Given the description of an element on the screen output the (x, y) to click on. 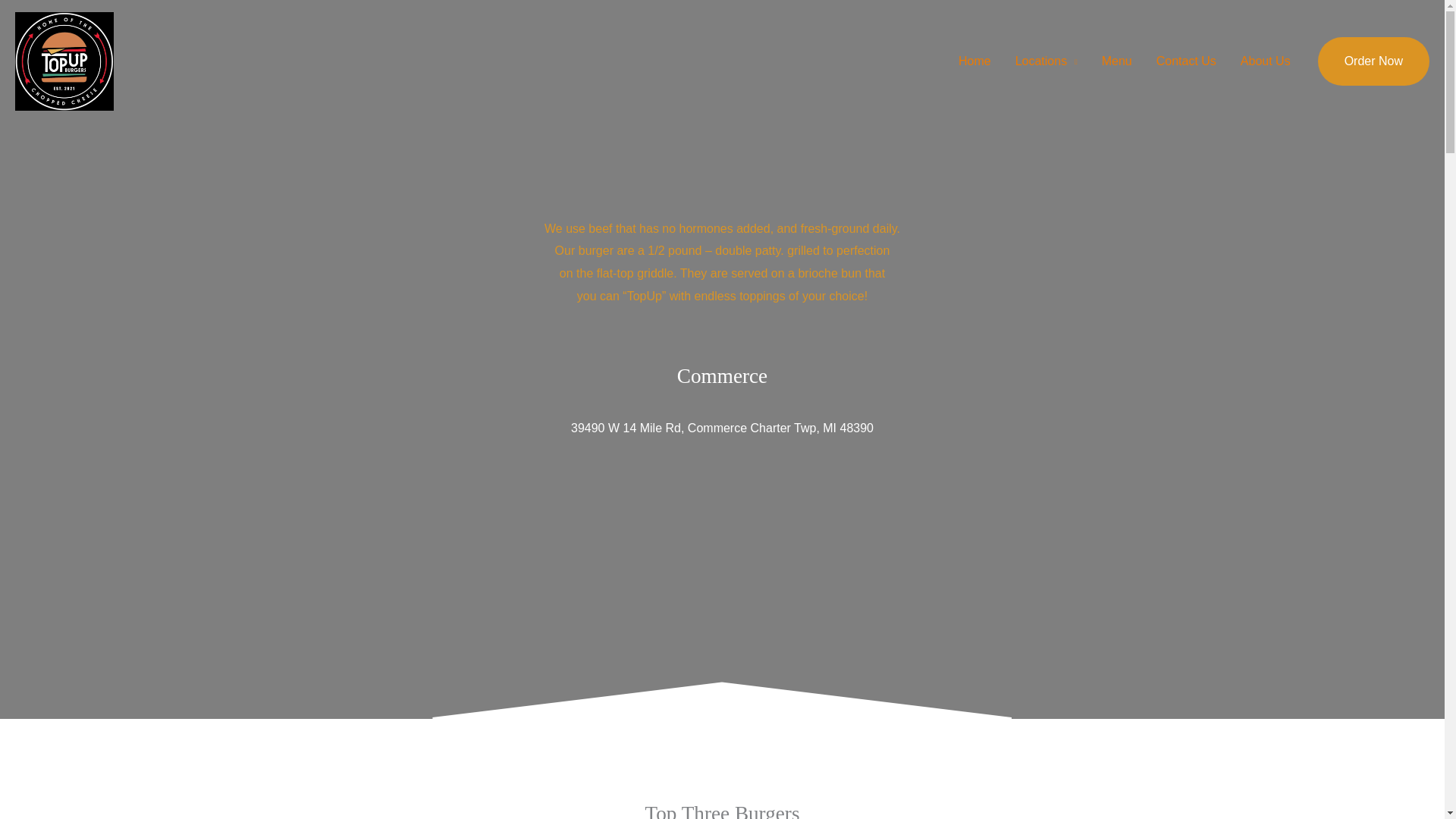
Menu (1116, 60)
About Us (1265, 60)
Contact Us (1186, 60)
Home (974, 60)
Order Now (1373, 60)
Locations (1046, 60)
